Given the description of an element on the screen output the (x, y) to click on. 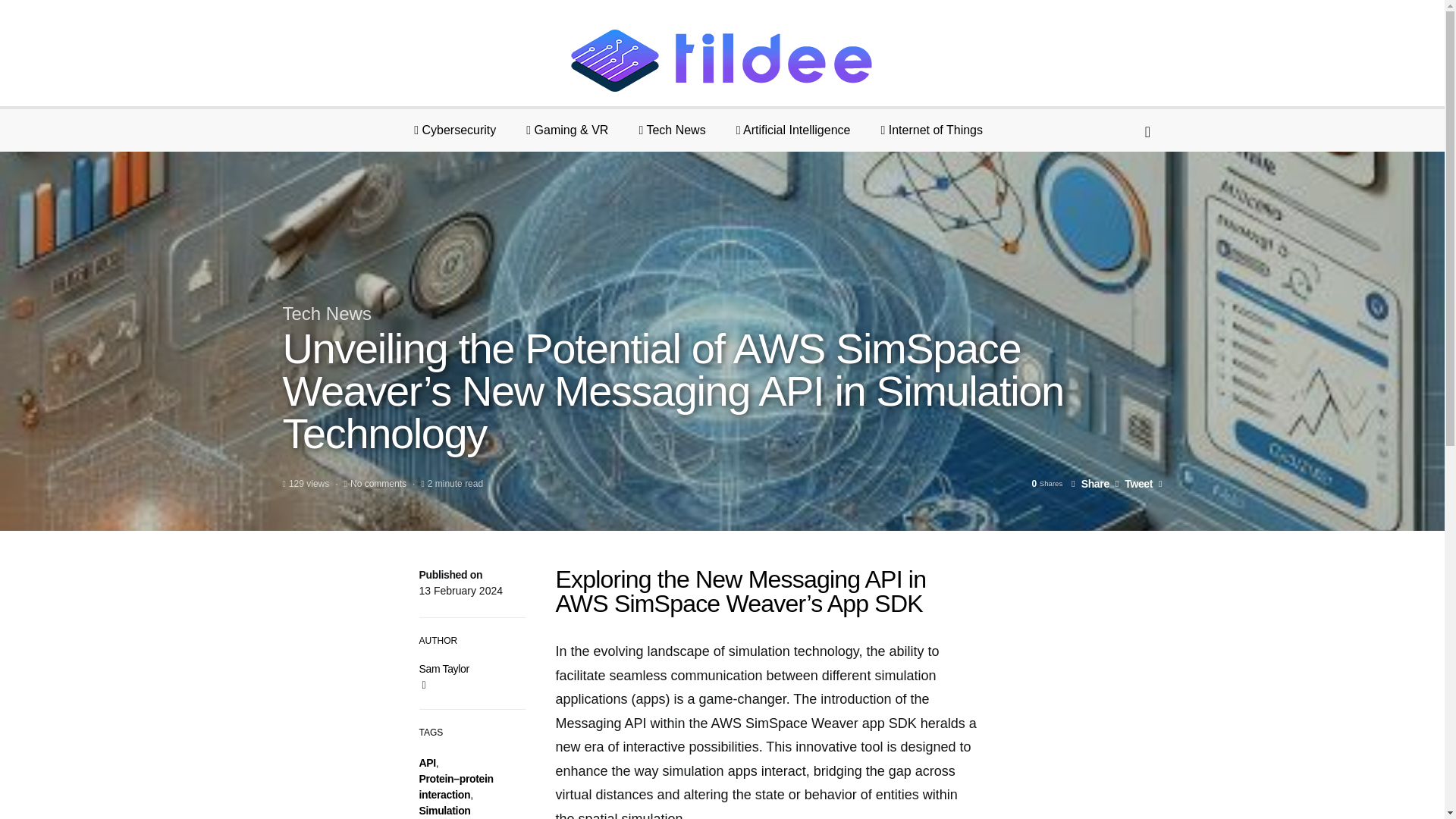
Tech News (326, 313)
Tweet (1134, 483)
API (427, 762)
No comments (378, 483)
Share (1090, 483)
Simulation (444, 810)
Sam Taylor (443, 668)
